Given the description of an element on the screen output the (x, y) to click on. 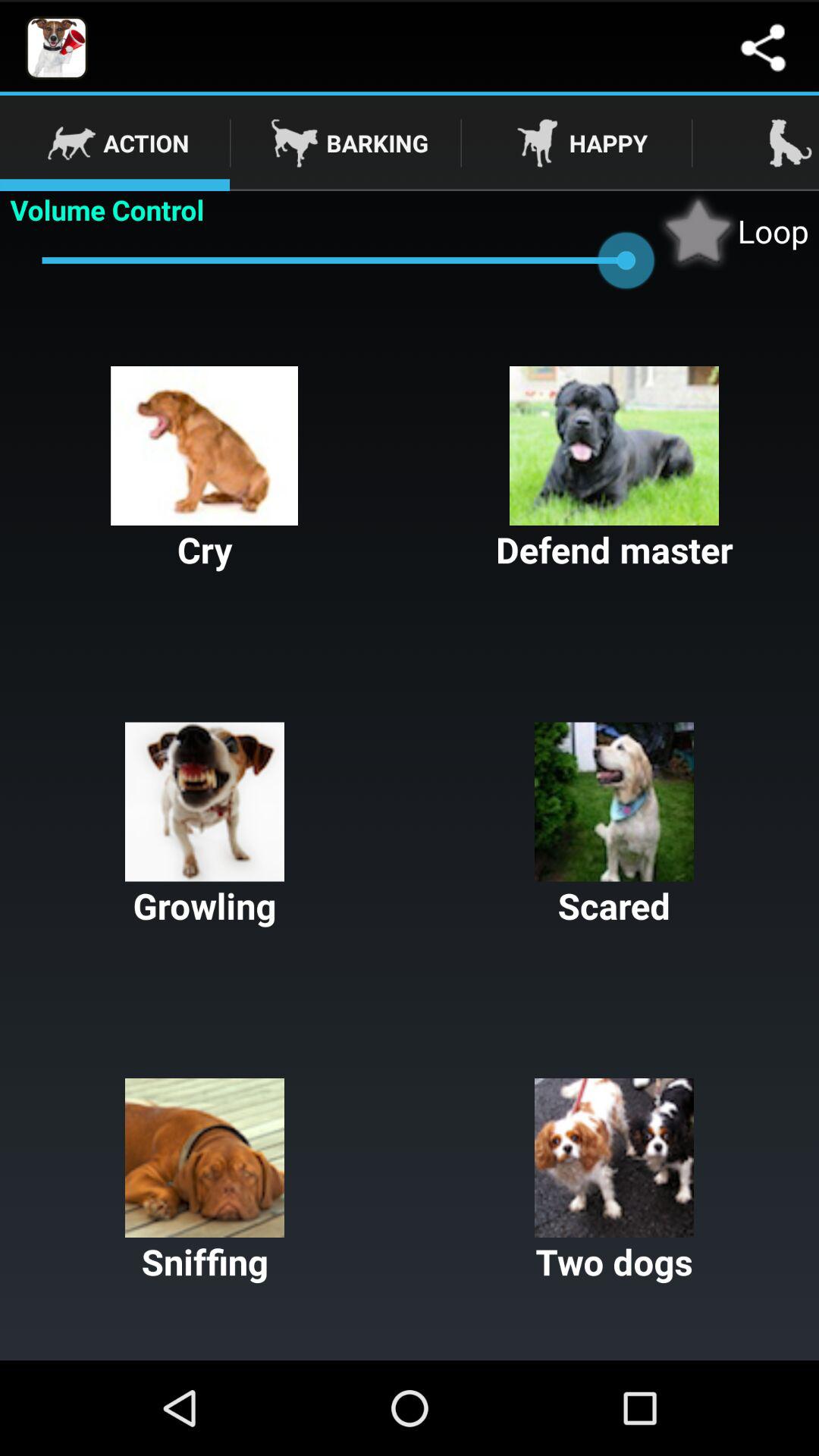
press the item next to the volume control icon (733, 230)
